Given the description of an element on the screen output the (x, y) to click on. 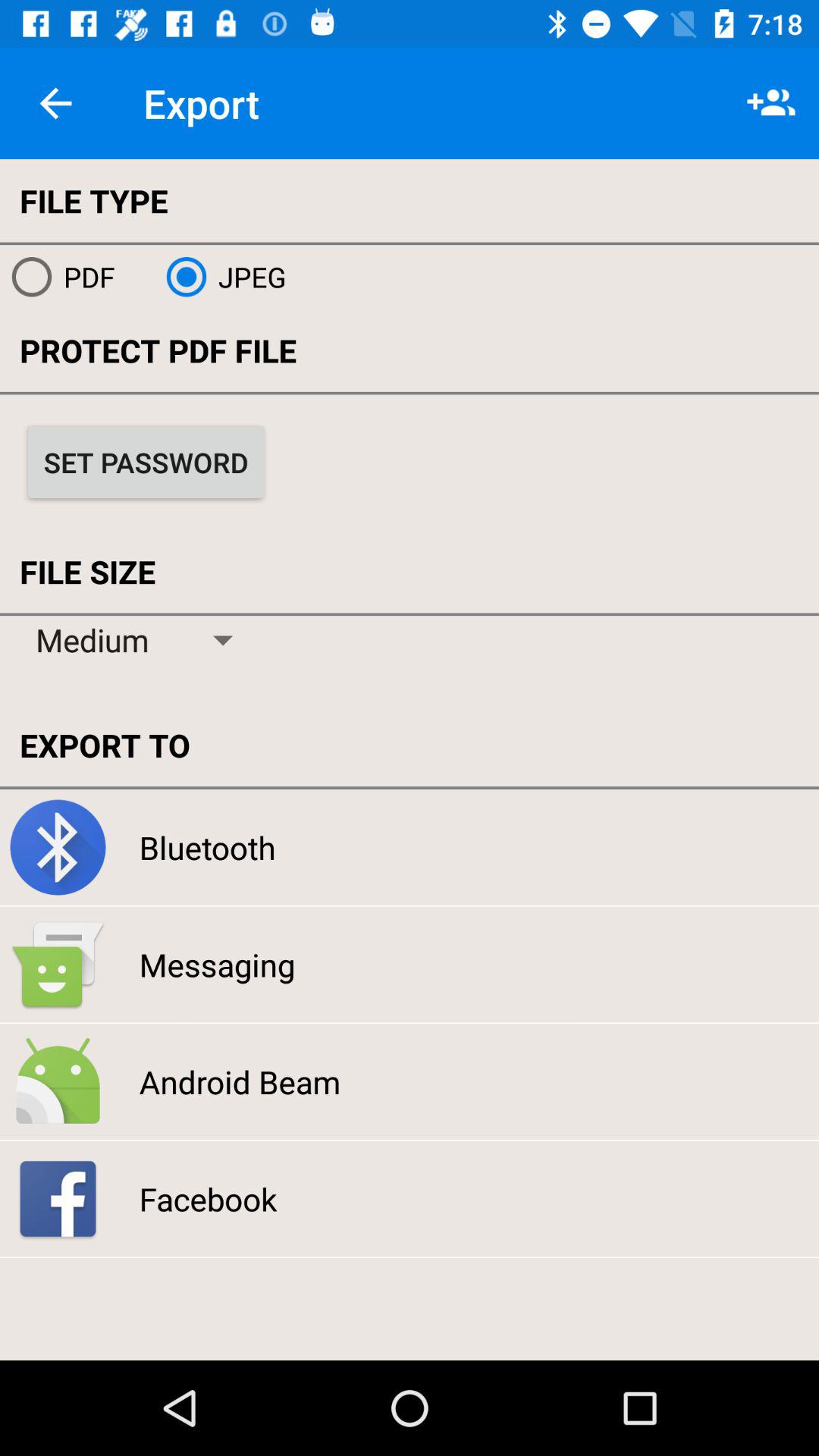
swipe to the jpeg icon (220, 276)
